Given the description of an element on the screen output the (x, y) to click on. 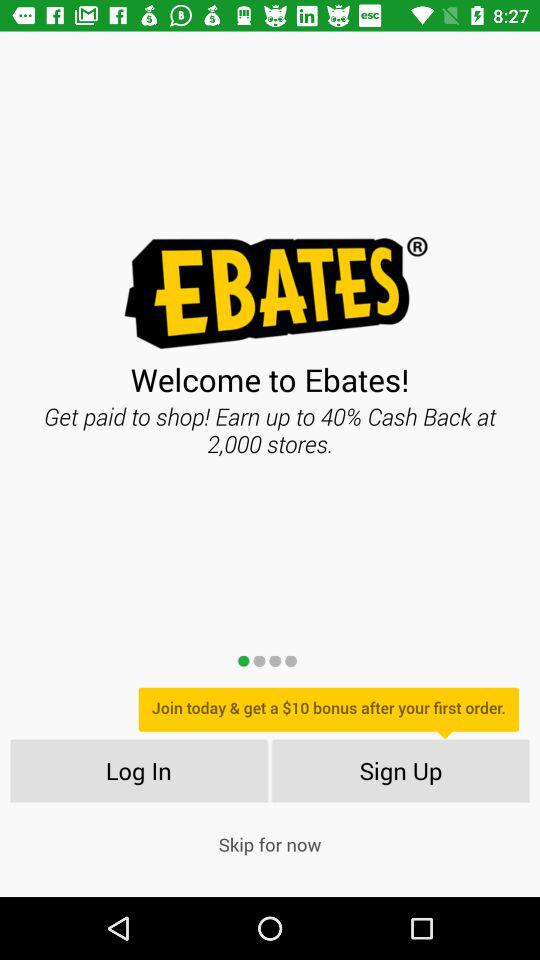
open sign up (400, 770)
